Given the description of an element on the screen output the (x, y) to click on. 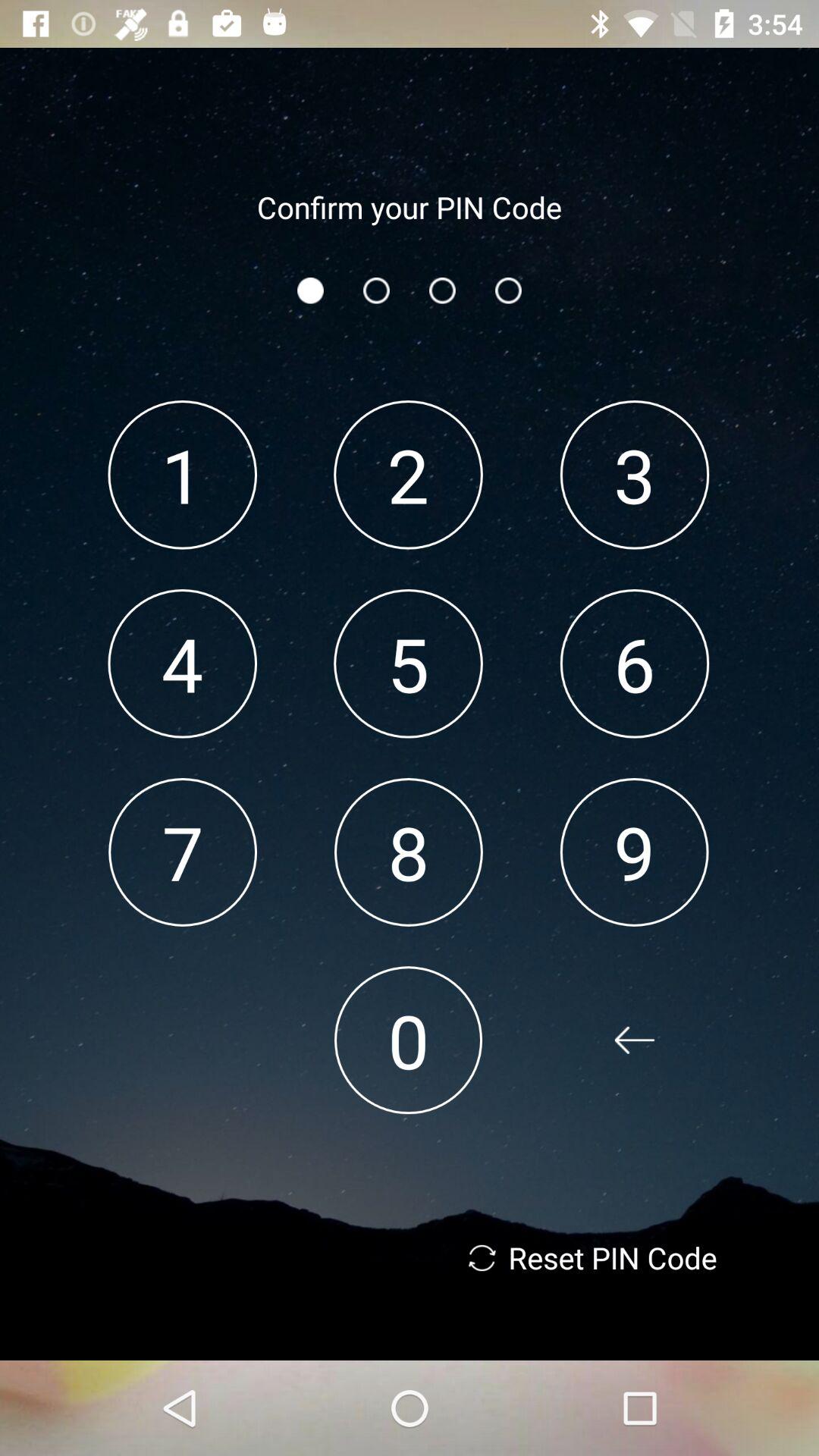
turn off the item below 5 app (408, 852)
